Given the description of an element on the screen output the (x, y) to click on. 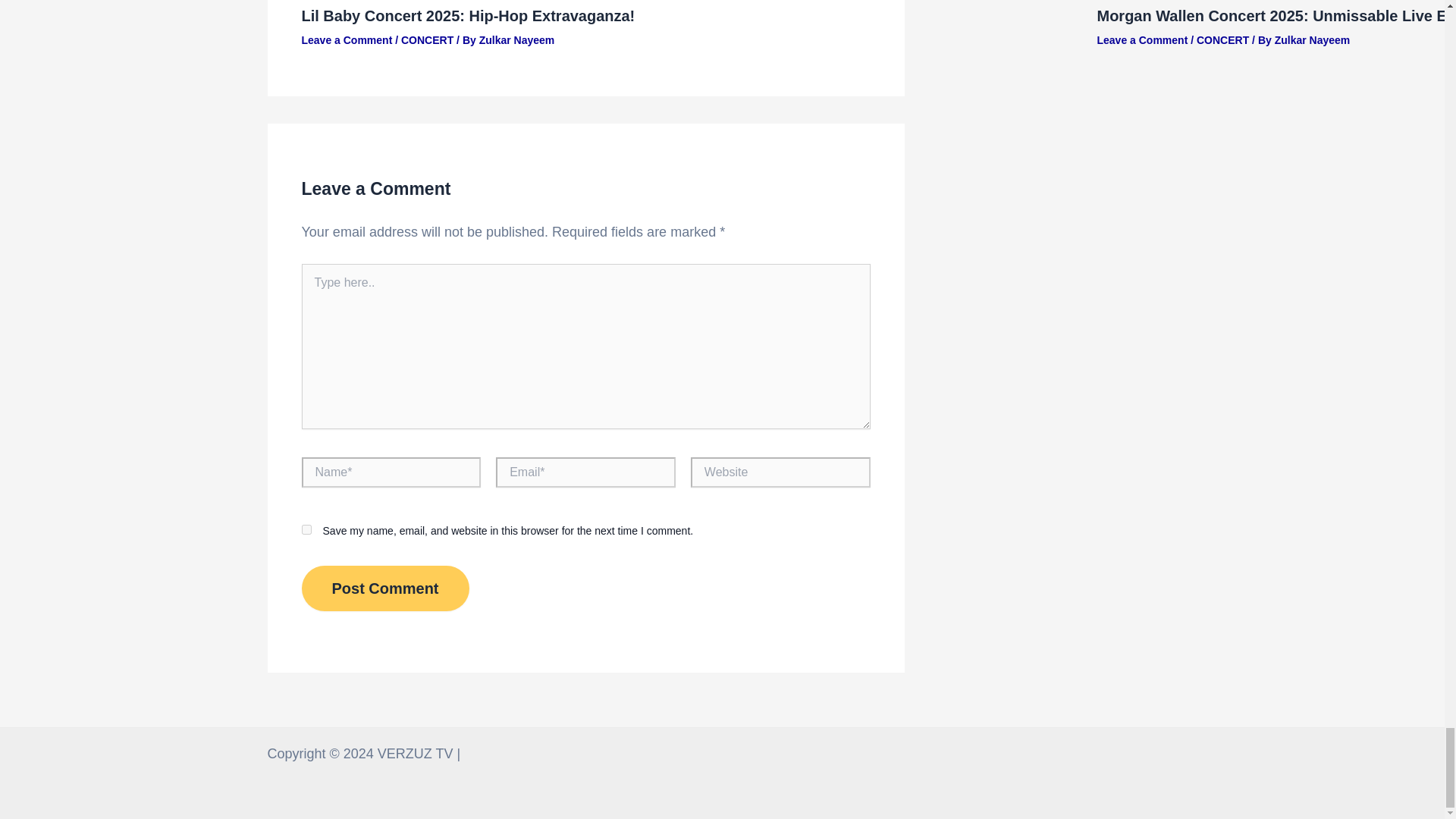
Post Comment (384, 587)
Morgan Wallen Concert 2025: Unmissable Live Experience! (1276, 15)
Post Comment (384, 587)
View all posts by Zulkar Nayeem (1313, 39)
CONCERT (426, 39)
View all posts by Zulkar Nayeem (516, 39)
Leave a Comment (347, 39)
Zulkar Nayeem (1313, 39)
Leave a Comment (1142, 39)
CONCERT (1222, 39)
Lil Baby Concert 2025: Hip-Hop Extravaganza! (467, 15)
Zulkar Nayeem (516, 39)
yes (306, 529)
